Given the description of an element on the screen output the (x, y) to click on. 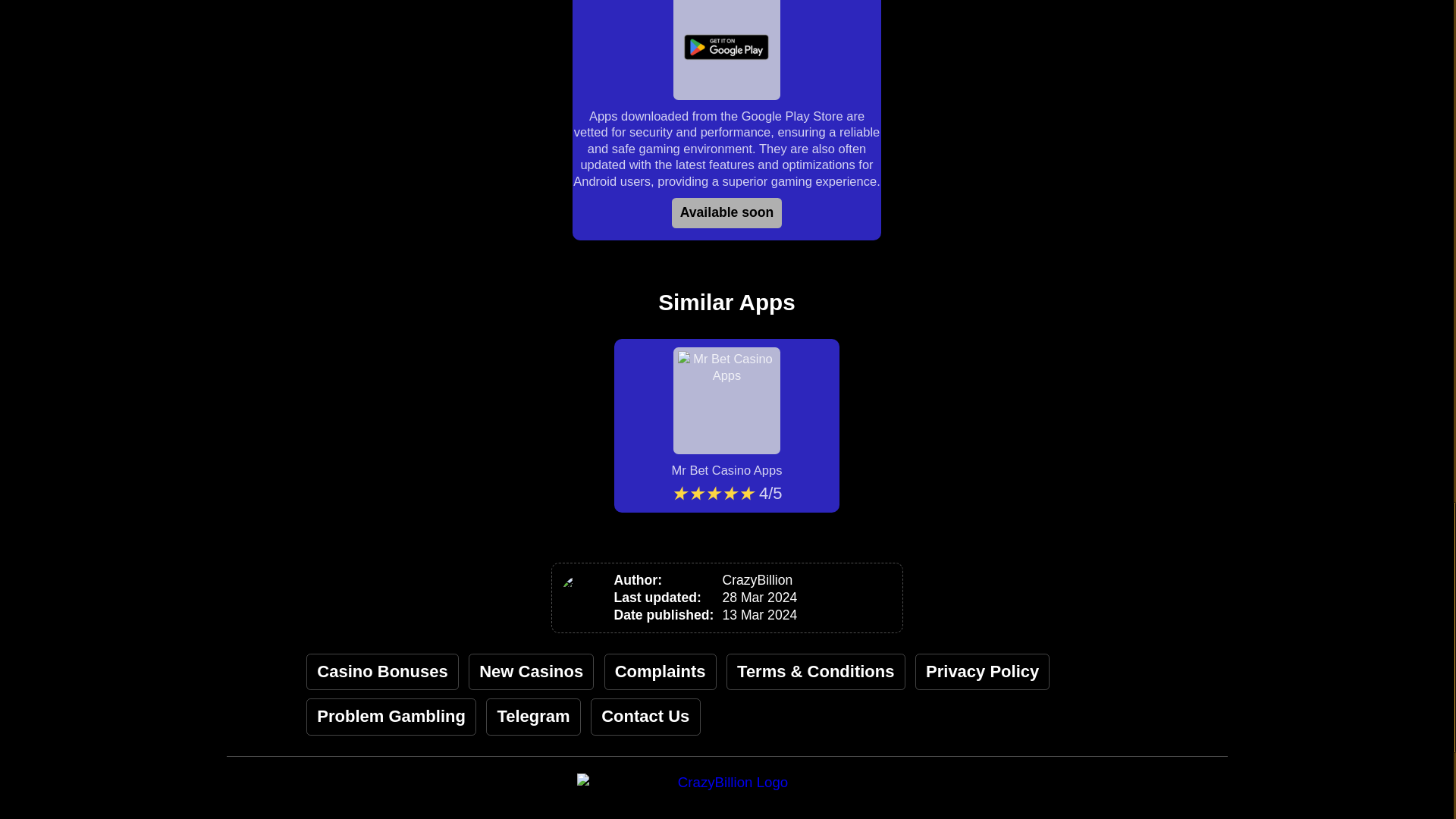
Mr Bet Casino Apps (727, 412)
